Given the description of an element on the screen output the (x, y) to click on. 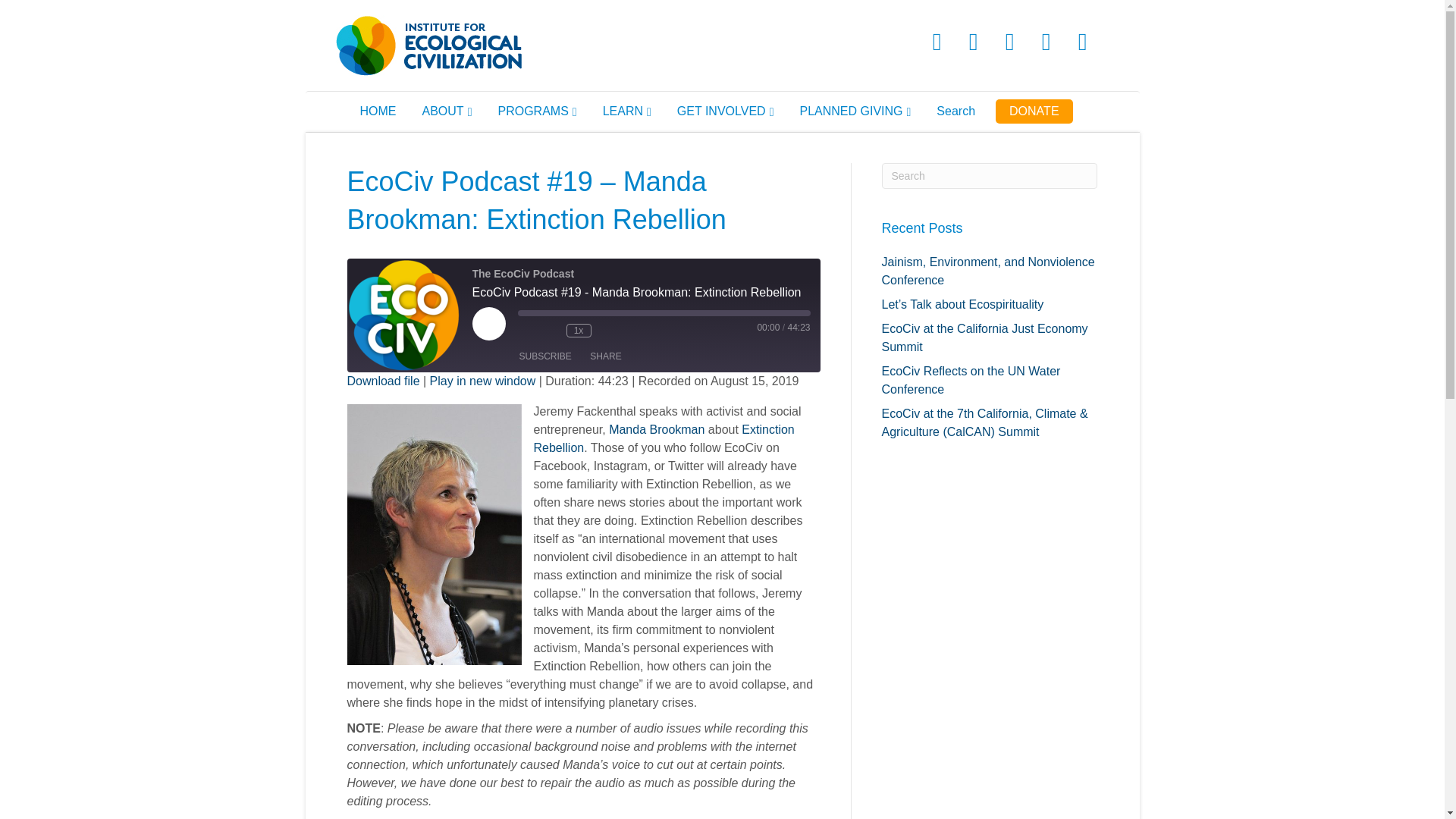
Seek (662, 313)
ABOUT (446, 111)
Fast Forward 30 seconds (607, 330)
The EcoCiv Podcast (404, 315)
Linkedin (1009, 41)
Youtube (1045, 41)
PLANNED GIVING (854, 111)
DONATE (1033, 111)
Rewind 10 seconds (550, 330)
Subscribe (544, 355)
